Given the description of an element on the screen output the (x, y) to click on. 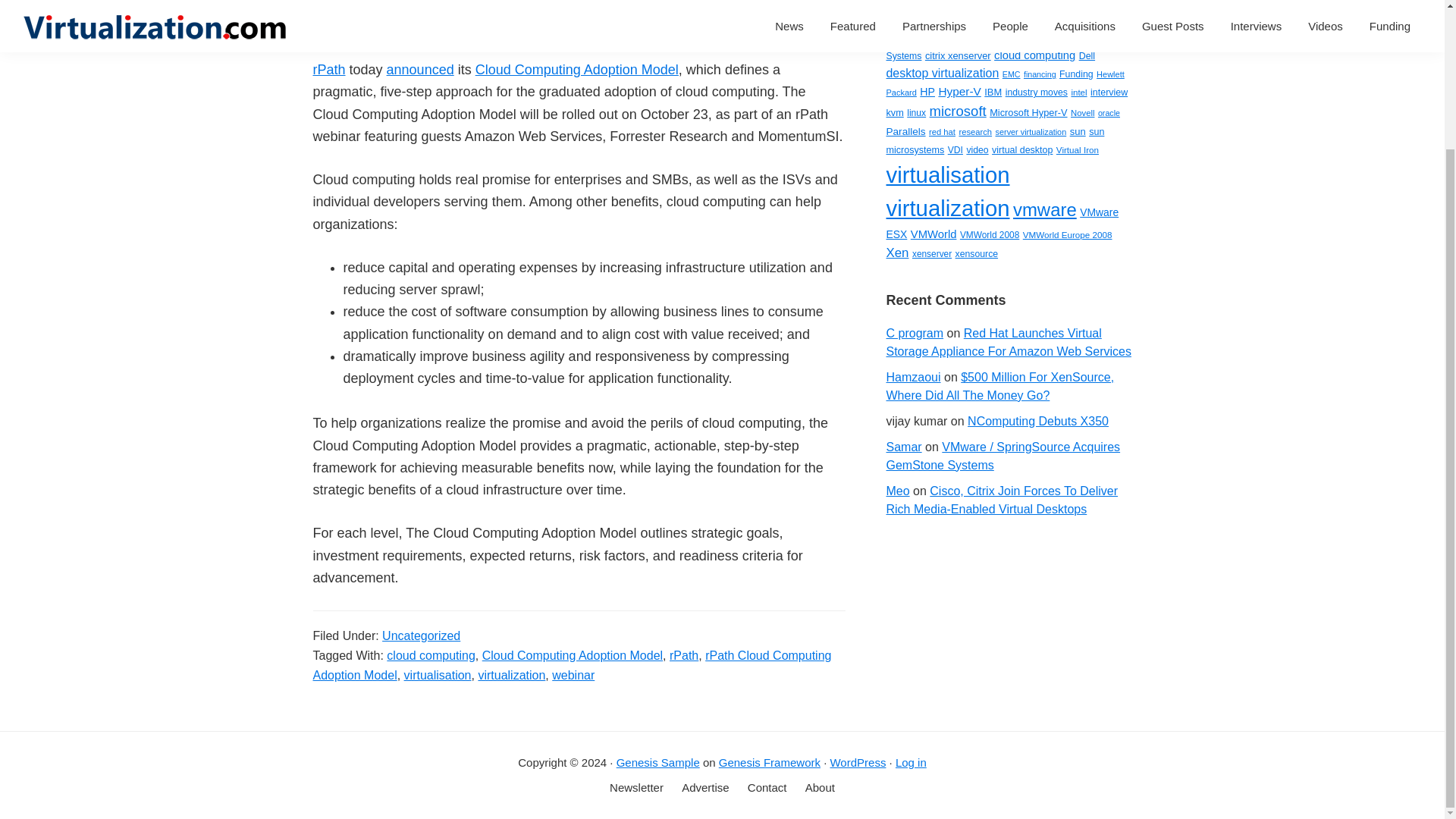
desktop virtualization (941, 72)
Funding (1076, 73)
rPath Introduces Cloud Computing Adoption Model (568, 7)
citrix xenserver (957, 55)
webinar (572, 675)
announced (420, 69)
Citrix Systems (992, 46)
Cloud Computing Adoption Model (577, 69)
cloud computing (1034, 55)
rPath Cloud Computing Adoption Model (572, 665)
virtualization (510, 675)
virtualisation (437, 675)
cloud computing (431, 655)
financing (1040, 73)
citrix (1060, 35)
